Given the description of an element on the screen output the (x, y) to click on. 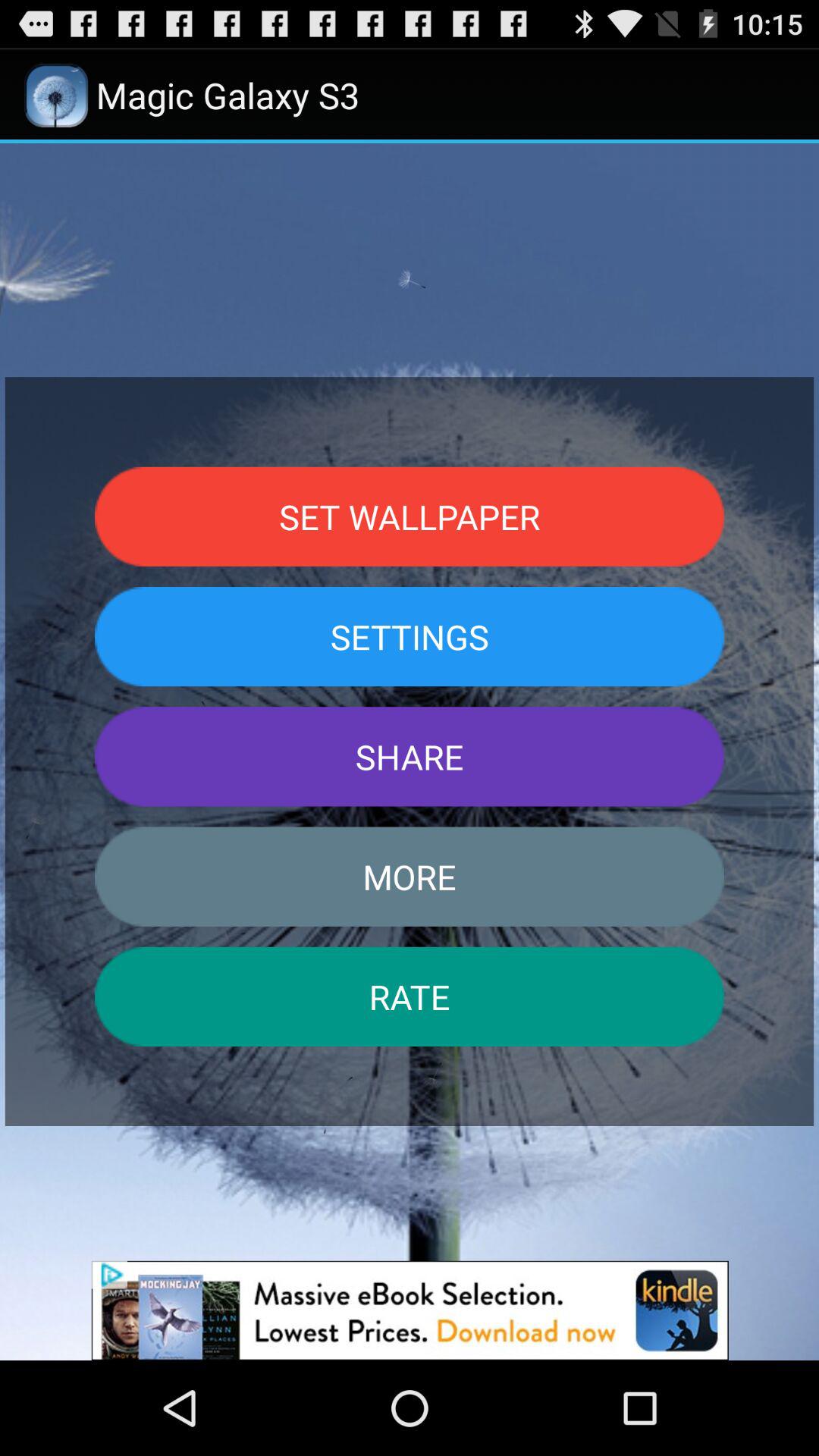
click set wallpaper item (409, 516)
